Given the description of an element on the screen output the (x, y) to click on. 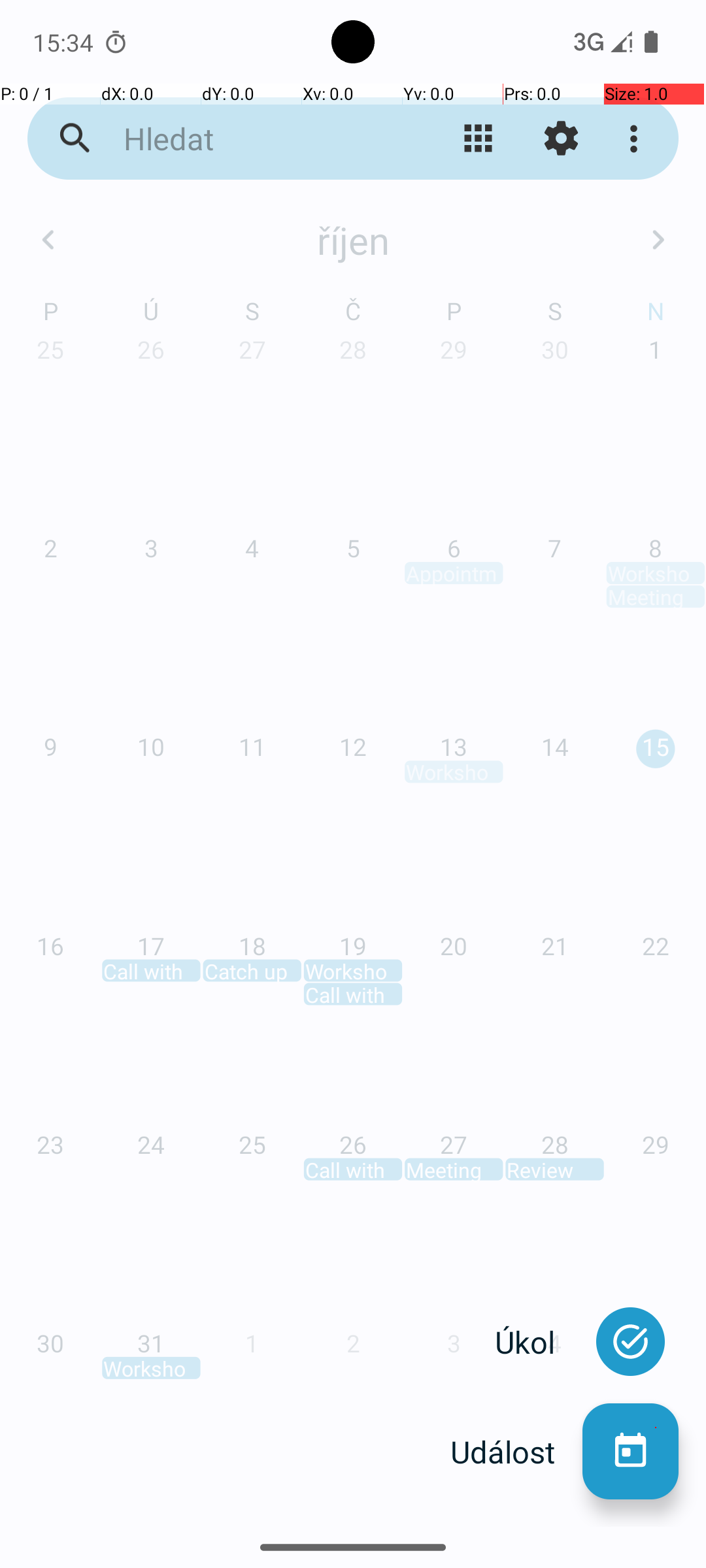
Úkol Element type: android.widget.TextView (538, 1341)
Událost Element type: android.widget.TextView (516, 1451)
říjen Element type: android.widget.TextView (352, 239)
